Given the description of an element on the screen output the (x, y) to click on. 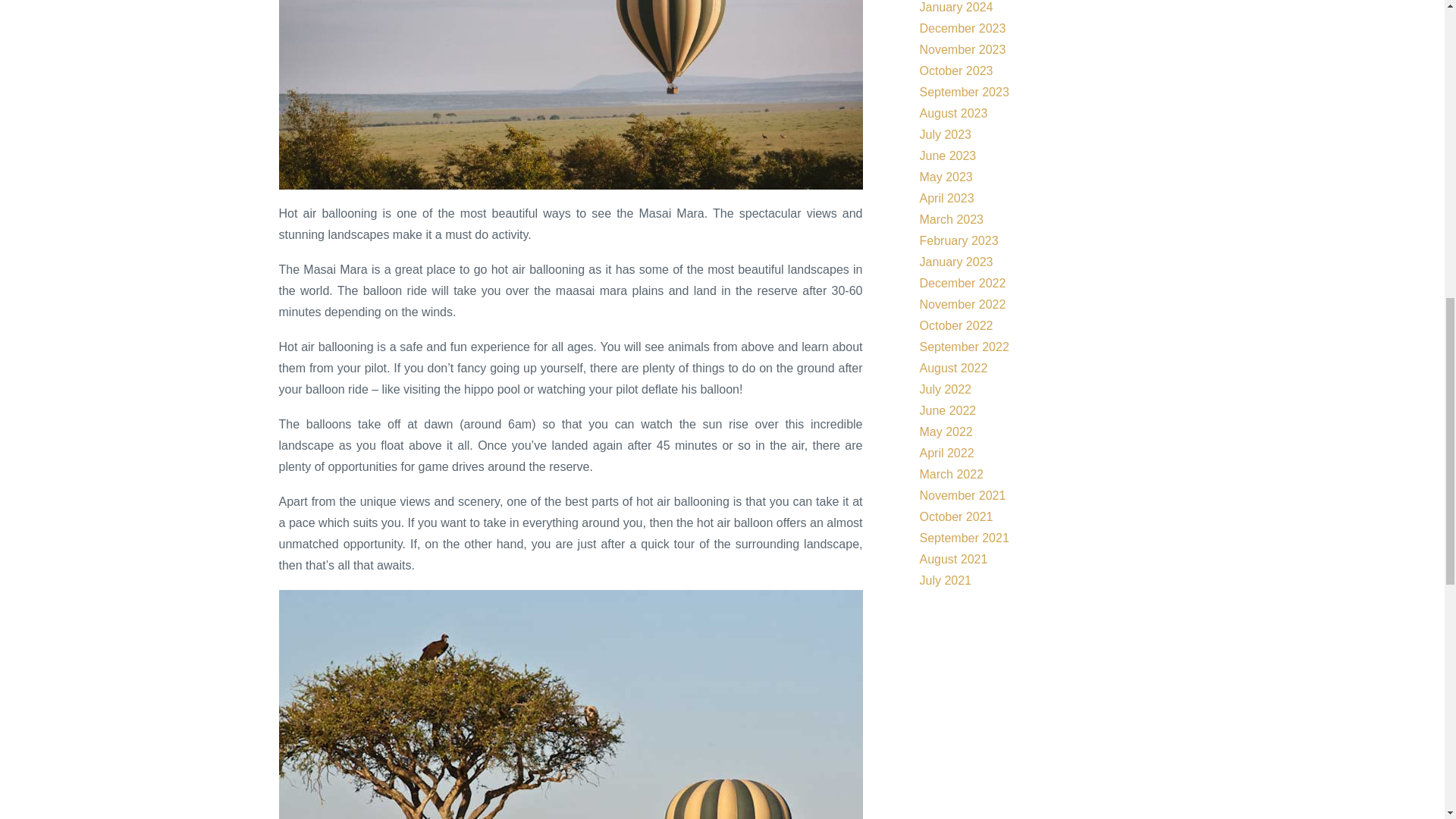
June 2023 (946, 155)
November 2023 (962, 49)
August 2023 (952, 113)
July 2023 (944, 133)
October 2023 (955, 70)
December 2023 (962, 28)
May 2023 (945, 176)
September 2023 (963, 91)
January 2024 (955, 6)
